Given the description of an element on the screen output the (x, y) to click on. 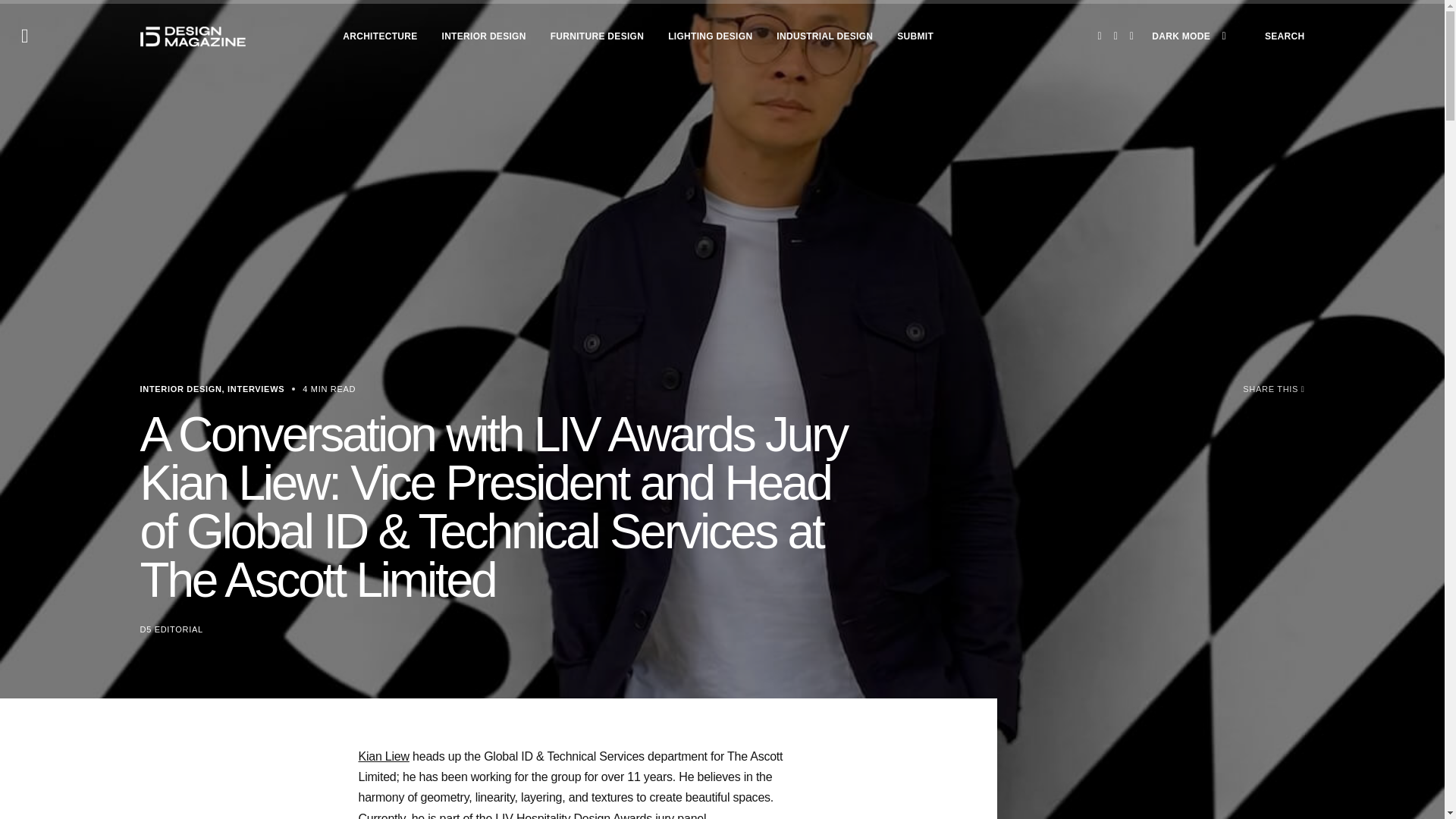
FURNITURE DESIGN (596, 36)
LIGHTING DESIGN (710, 36)
INTERIOR DESIGN (483, 36)
INDUSTRIAL DESIGN (824, 36)
ARCHITECTURE (379, 36)
